Given the description of an element on the screen output the (x, y) to click on. 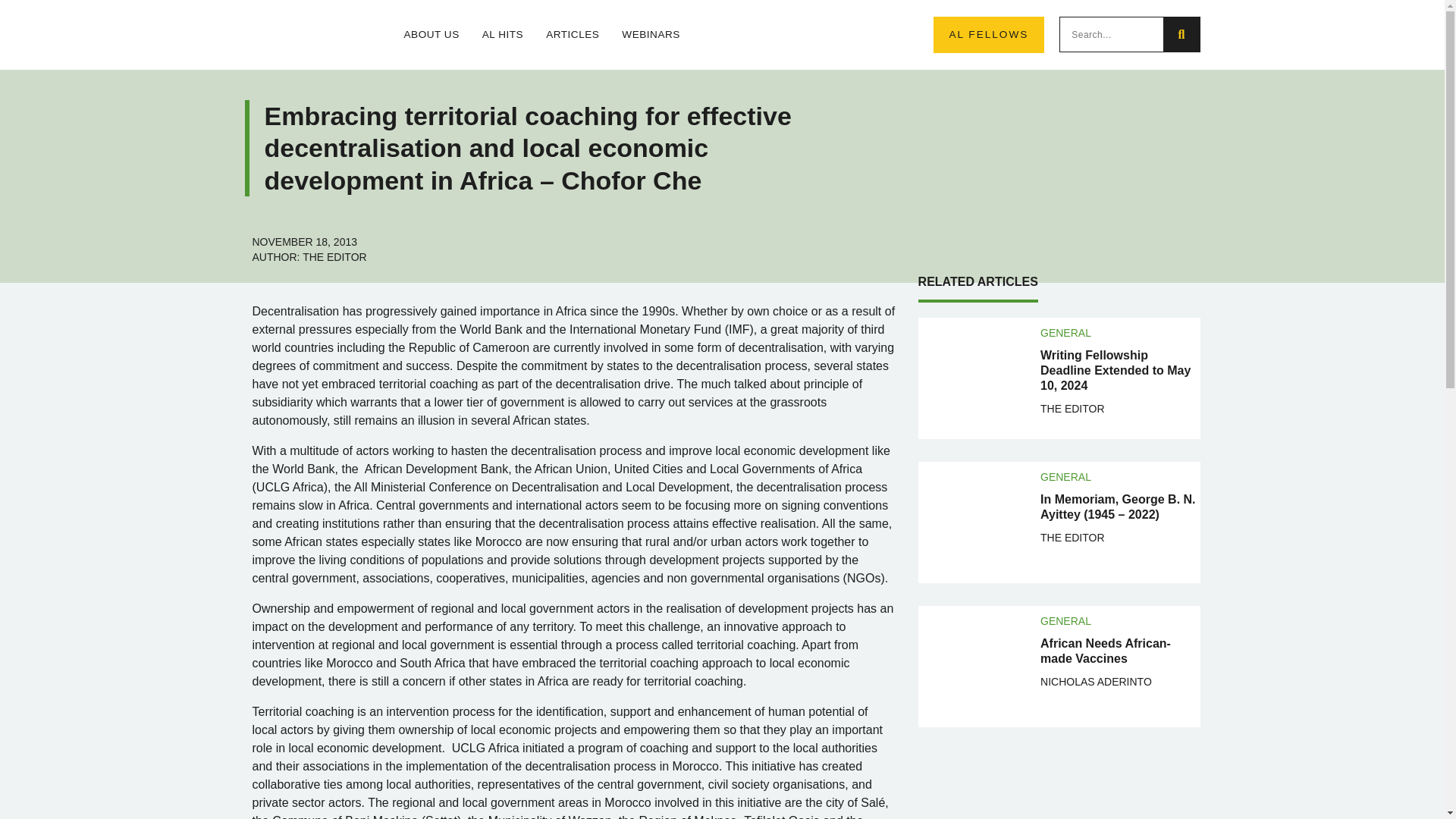
ARTICLES (572, 34)
NOVEMBER 18, 2013 (303, 241)
AL HITS (501, 34)
WEBINARS (650, 34)
AL FELLOWS (988, 34)
ABOUT US (430, 34)
AUTHOR: THE EDITOR (308, 256)
